Given the description of an element on the screen output the (x, y) to click on. 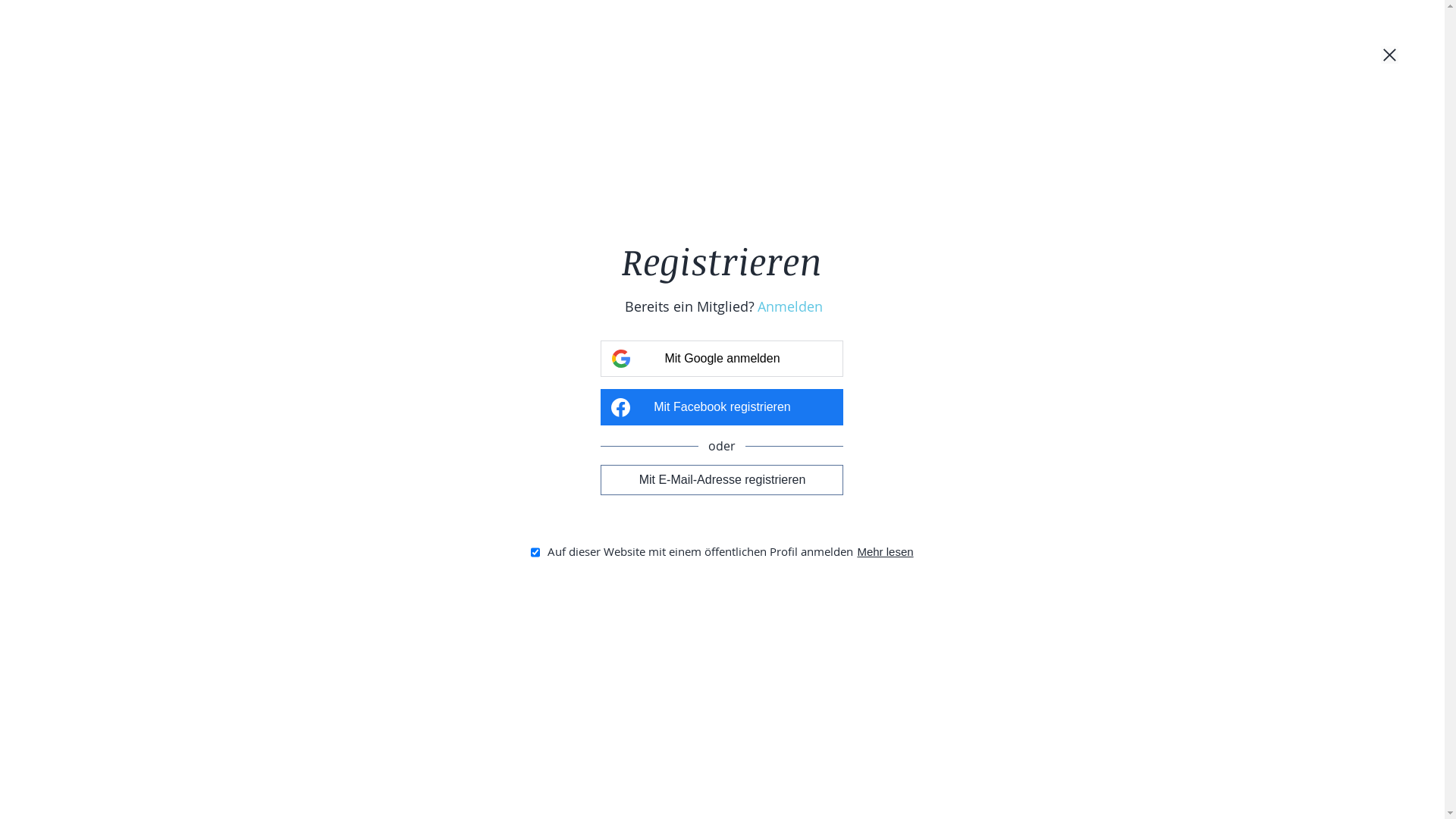
Mit E-Mail-Adresse registrieren Element type: text (721, 479)
Anmelden Element type: text (789, 306)
Mit Google anmelden Element type: text (721, 358)
Mit Facebook registrieren Element type: text (721, 407)
Mehr lesen Element type: text (884, 551)
